Given the description of an element on the screen output the (x, y) to click on. 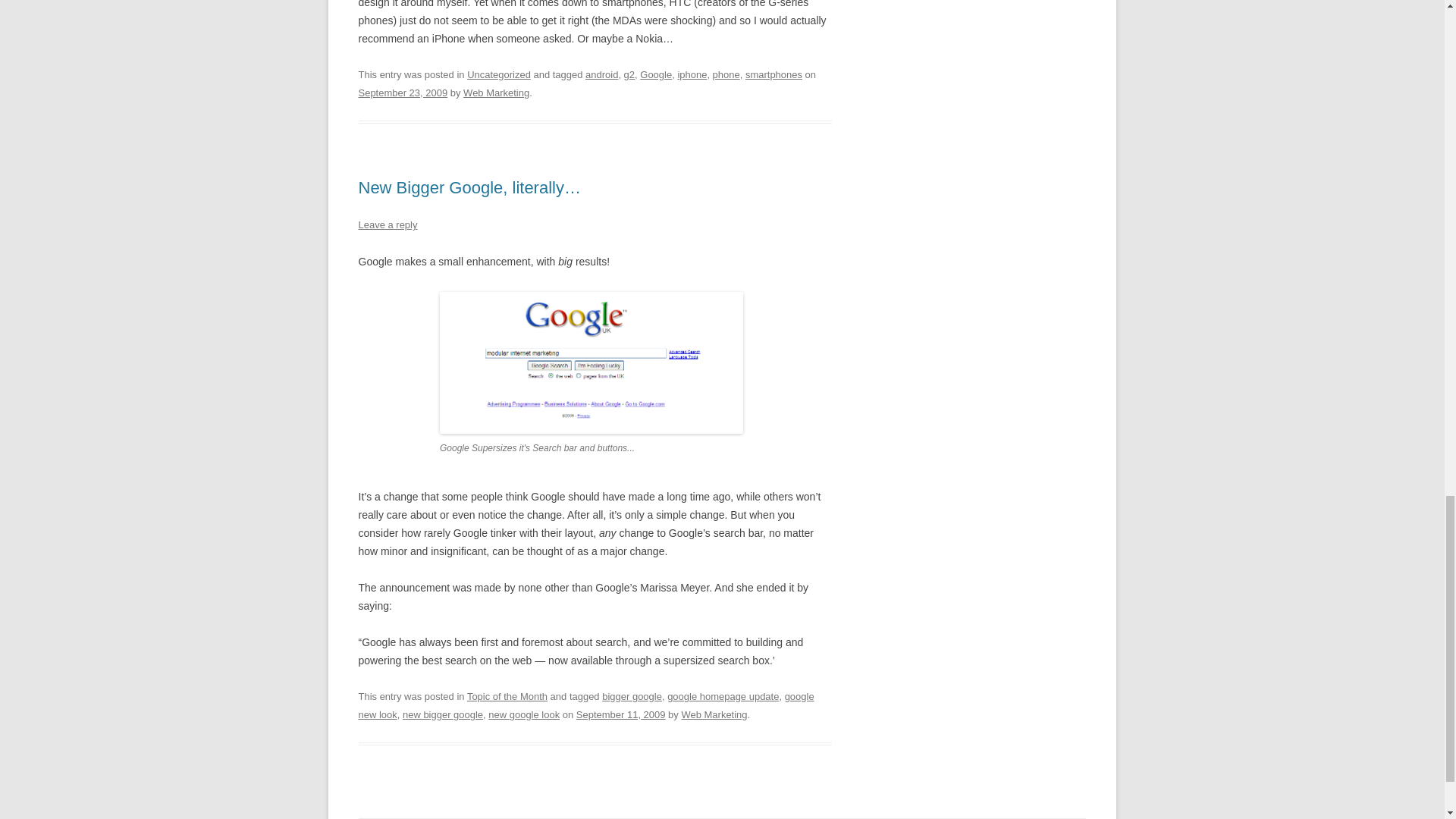
Uncategorized (499, 74)
Web Marketing (713, 714)
bigger google (632, 696)
View all posts in Uncategorized (499, 74)
September 23, 2009 (402, 92)
android (601, 74)
Leave a reply (387, 224)
Web Marketing (496, 92)
phone (726, 74)
12:14 pm (620, 714)
View all posts in Topic of the Month (507, 696)
iphone (691, 74)
google homepage update (722, 696)
September 11, 2009 (620, 714)
View all posts by Web Marketing (713, 714)
